Given the description of an element on the screen output the (x, y) to click on. 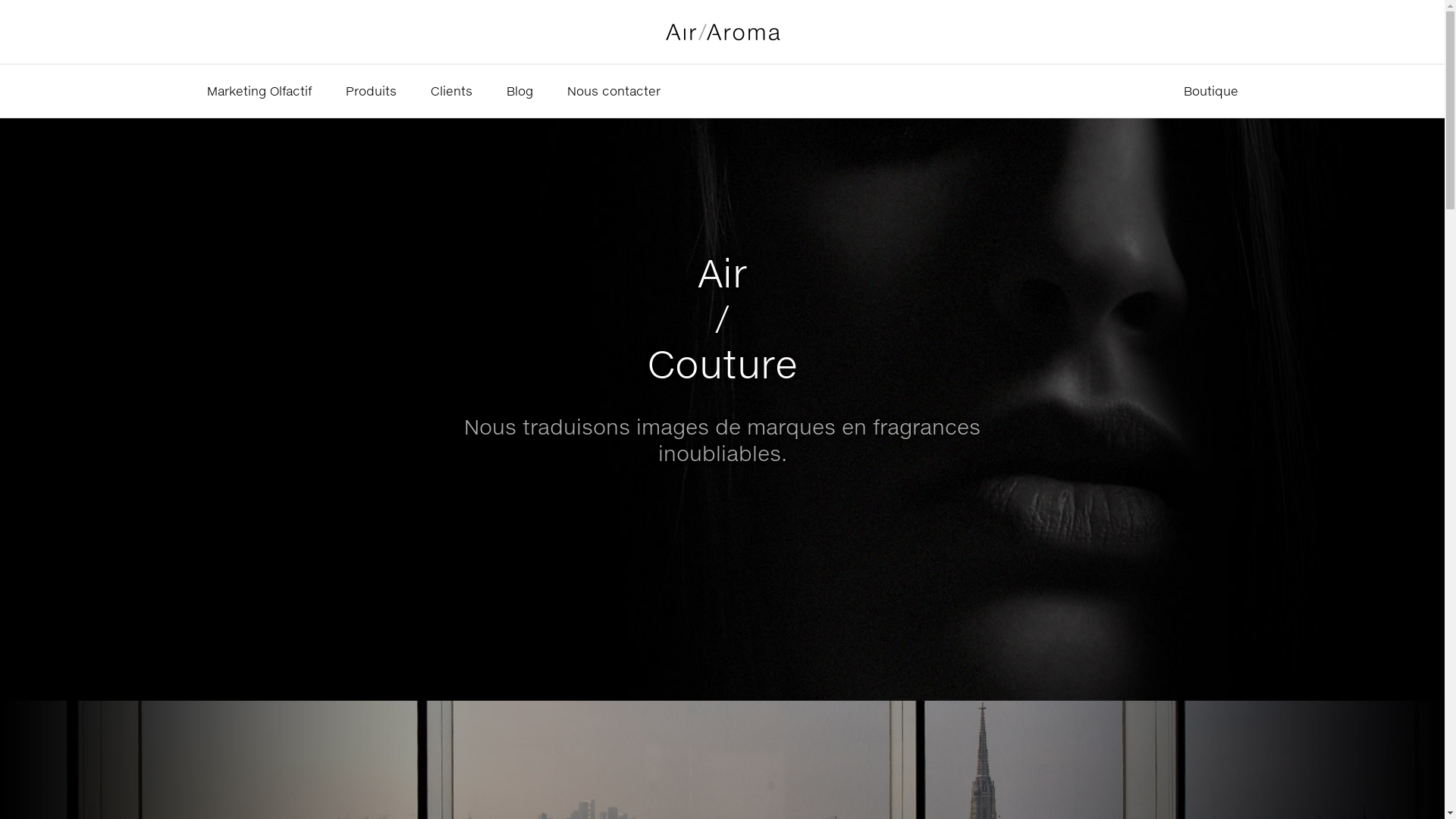
Blog Element type: text (519, 90)
Clients Element type: text (451, 90)
Marketing Olfactif Element type: text (258, 90)
Boutique Element type: text (1209, 90)
Produits Element type: text (370, 90)
Home Element type: hover (722, 31)
Nous contacter Element type: text (613, 90)
